Given the description of an element on the screen output the (x, y) to click on. 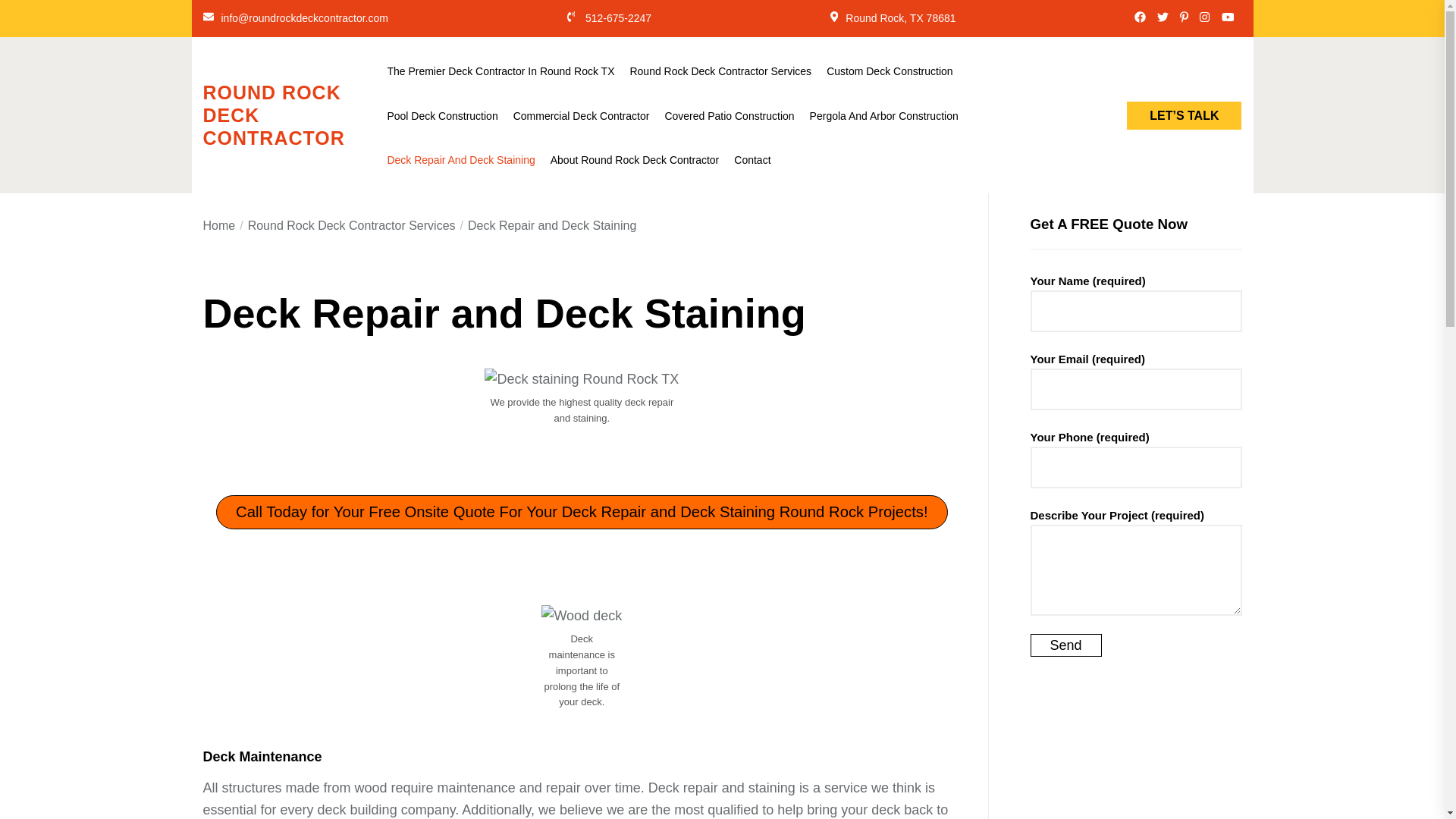
Contact (751, 159)
Pergola And Arbor Construction (883, 115)
Pool Deck Construction (442, 115)
The Premier Deck Contractor In Round Rock TX (500, 71)
ROUND ROCK DECK CONTRACTOR (291, 115)
512-675-2247 (617, 18)
Round Rock Deck Contractor Services (719, 71)
Deck Repair And Deck Staining (460, 159)
Send (1064, 644)
Commercial Deck Contractor (581, 115)
